Given the description of an element on the screen output the (x, y) to click on. 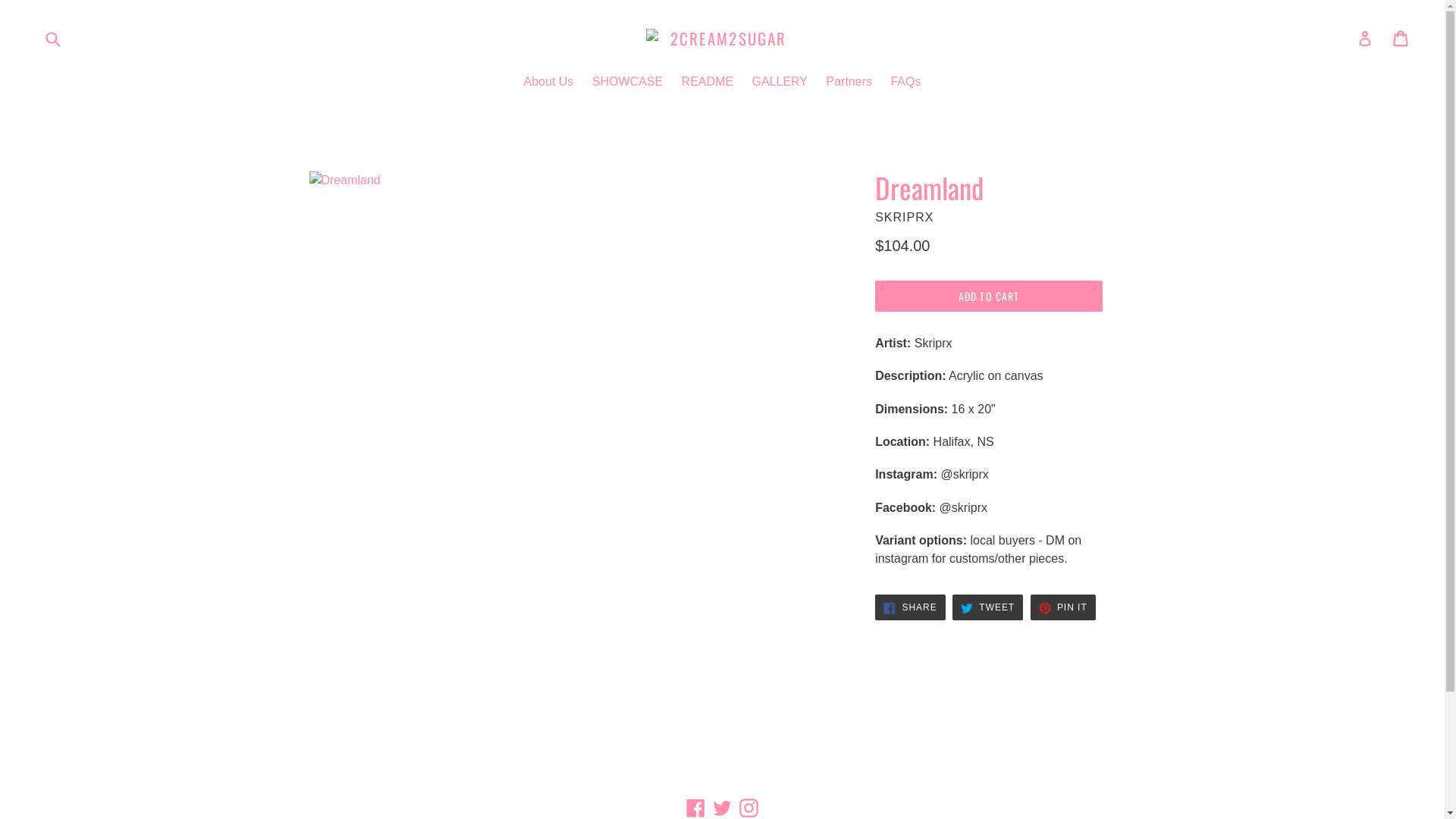
Twitter Element type: text (722, 807)
PIN IT
PIN ON PINTEREST Element type: text (1062, 608)
TWEET
TWEET ON TWITTER Element type: text (987, 608)
Log in Element type: text (1364, 38)
Submit Element type: text (51, 37)
FAQs Element type: text (905, 82)
Partners Element type: text (849, 82)
GALLERY Element type: text (779, 82)
SHARE
SHARE ON FACEBOOK Element type: text (909, 608)
SHOWCASE Element type: text (627, 82)
ADD TO CART Element type: text (988, 296)
About Us Element type: text (548, 82)
Facebook Element type: text (695, 807)
Instagram Element type: text (748, 807)
README Element type: text (707, 82)
Cart
Cart Element type: text (1401, 38)
